Given the description of an element on the screen output the (x, y) to click on. 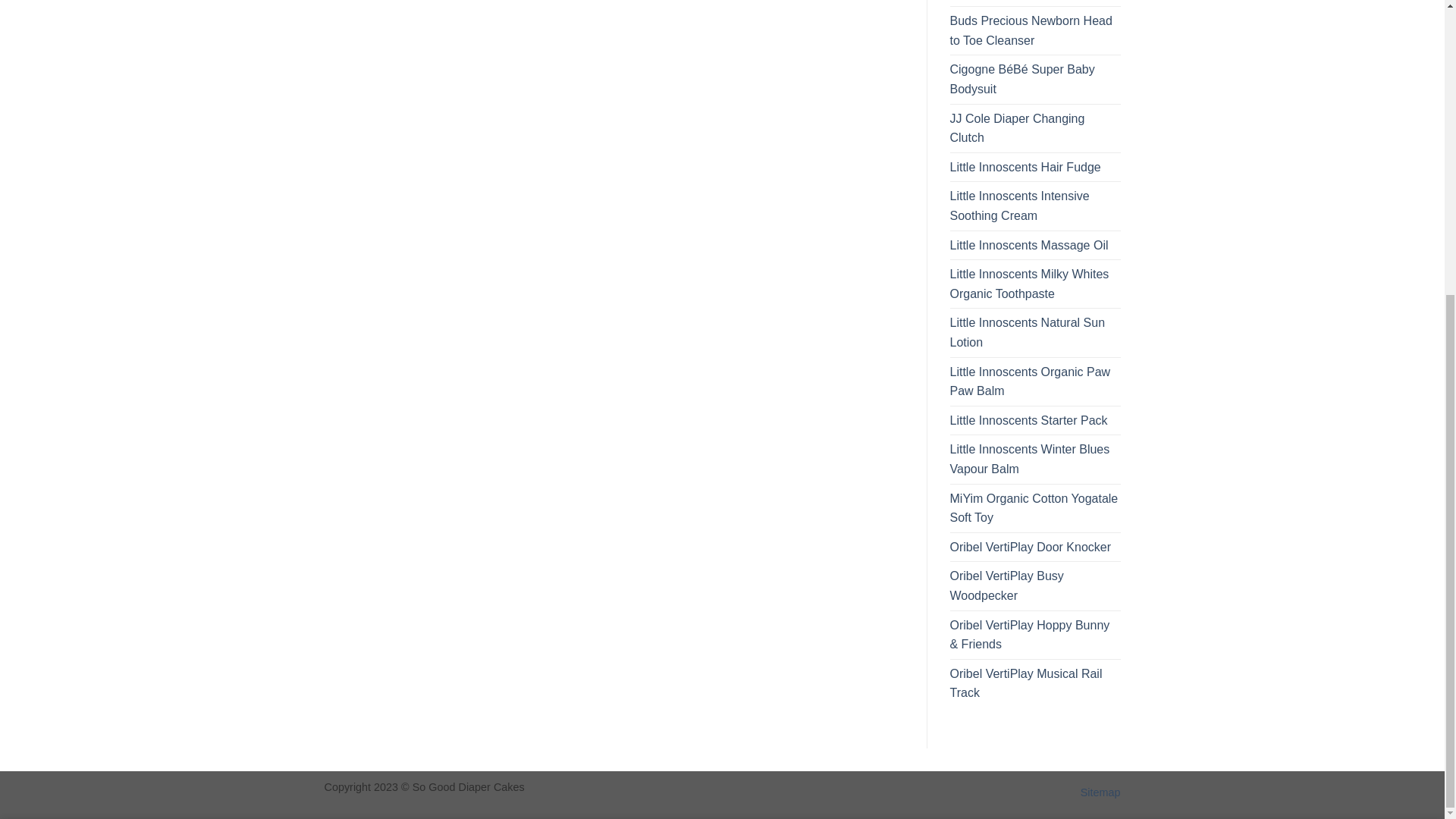
Oribel VertiPlay Busy Woodpecker (1034, 585)
Little Innoscents Organic Paw Paw Balm (1034, 381)
Little Innoscents Massage Oil (1028, 245)
Little Innoscents Intensive Soothing Cream (1034, 205)
Buds Precious Newborn Cream (1034, 3)
Little Innoscents Milky Whites Organic Toothpaste (1034, 283)
Little Innoscents Hair Fudge (1024, 167)
Little Innoscents Winter Blues Vapour Balm (1034, 458)
Oribel VertiPlay Door Knocker (1029, 547)
MiYim Organic Cotton Yogatale Soft Toy (1034, 508)
Little Innoscents Natural Sun Lotion (1034, 332)
JJ Cole Diaper Changing Clutch (1034, 128)
Buds Precious Newborn Head to Toe Cleanser (1034, 30)
Little Innoscents Starter Pack (1027, 420)
